Given the description of an element on the screen output the (x, y) to click on. 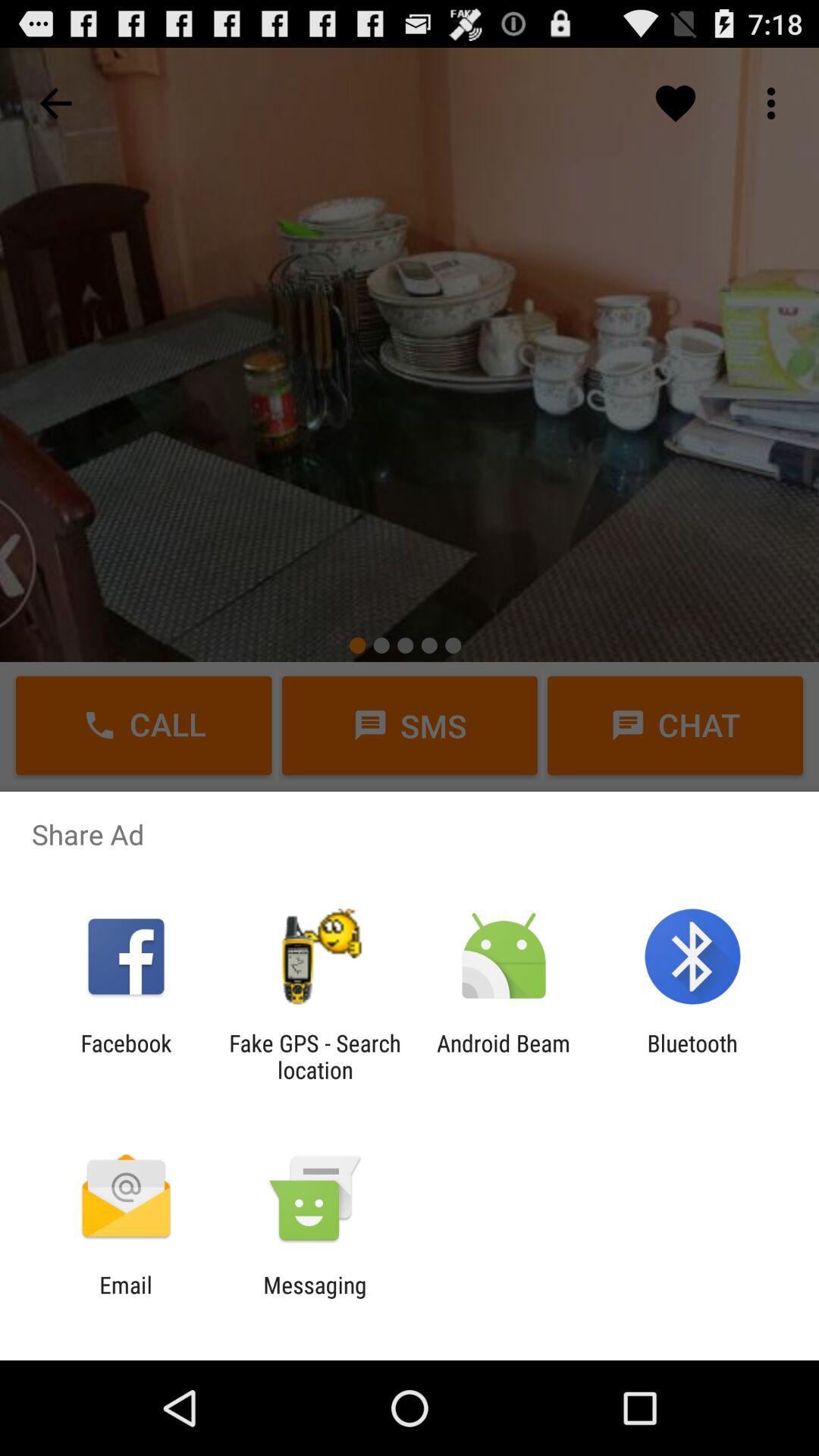
press the icon to the left of bluetooth icon (503, 1056)
